Given the description of an element on the screen output the (x, y) to click on. 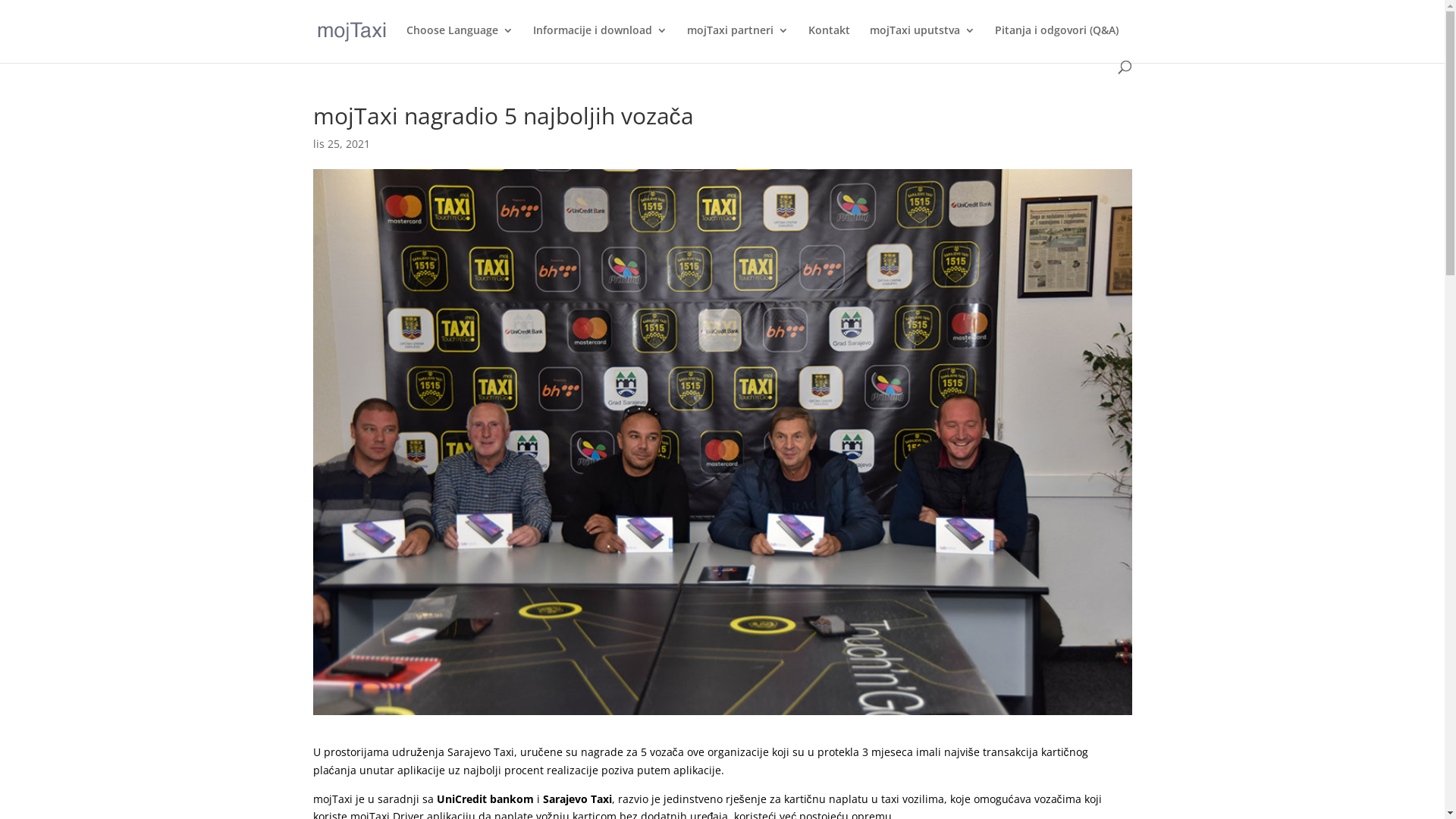
mojTaxi partneri Element type: text (737, 42)
mojTaxi uputstva Element type: text (921, 42)
Pitanja i odgovori (Q&A) Element type: text (1056, 42)
Informacije i download Element type: text (599, 42)
Kontakt Element type: text (829, 42)
Choose Language Element type: text (459, 42)
Sarajevo Taxi Element type: text (576, 798)
